Given the description of an element on the screen output the (x, y) to click on. 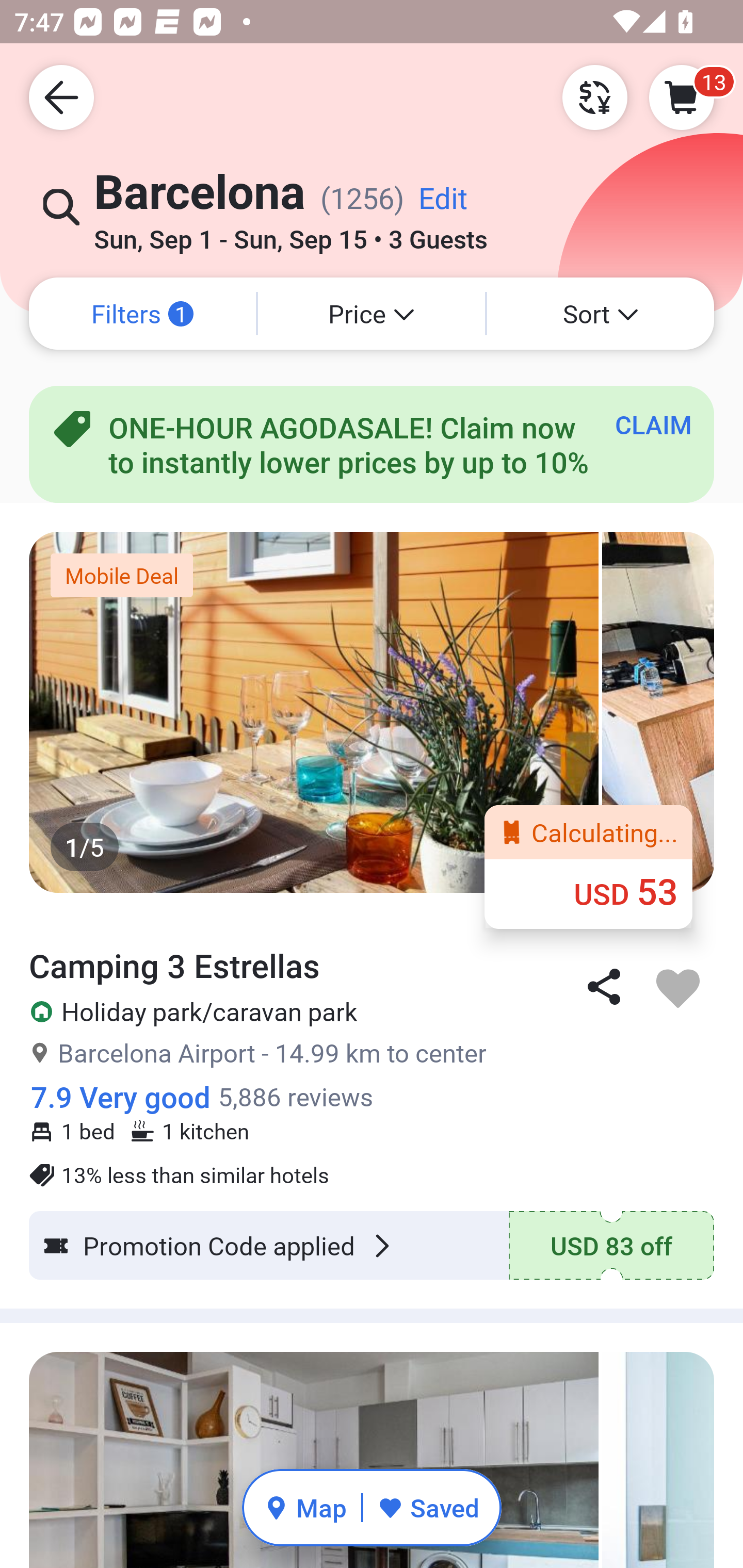
Filters 1 (141, 313)
Price (371, 313)
Sort (600, 313)
CLAIM (653, 424)
1/5 (371, 711)
Mobile Deal (121, 575)
Calculating... ‪USD 53 (588, 866)
Promotion Code applied USD 83 off (371, 1245)
Map (305, 1507)
Saved (428, 1507)
